Given the description of an element on the screen output the (x, y) to click on. 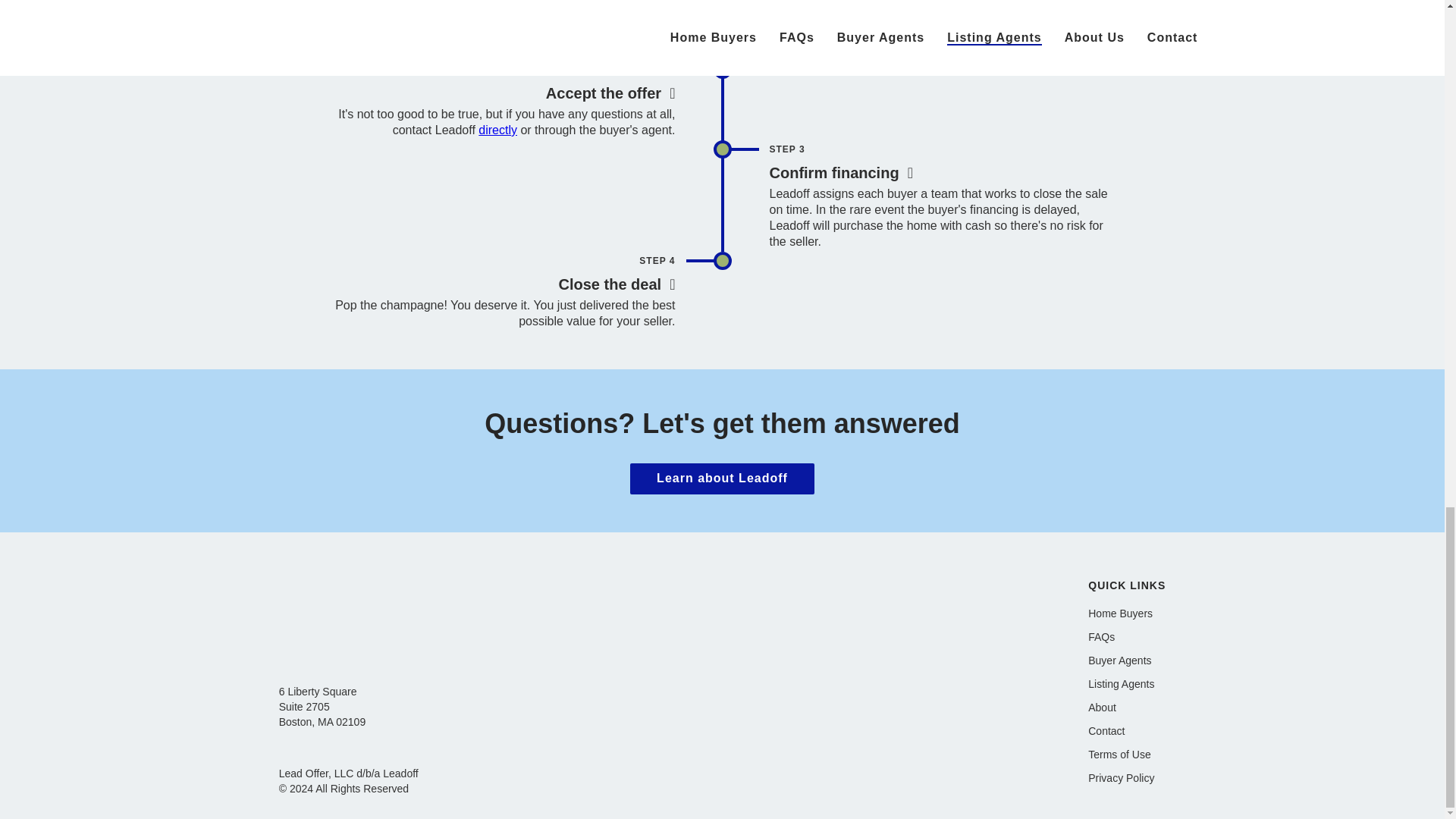
Learn about Leadoff (721, 478)
Buyer Agents (1126, 660)
Terms of Use (1126, 754)
FAQs (1126, 636)
Home Buyers (1126, 613)
Contact (1126, 731)
Listing Agents (1126, 684)
Privacy Policy (1126, 778)
About (1126, 707)
directly (497, 129)
